Given the description of an element on the screen output the (x, y) to click on. 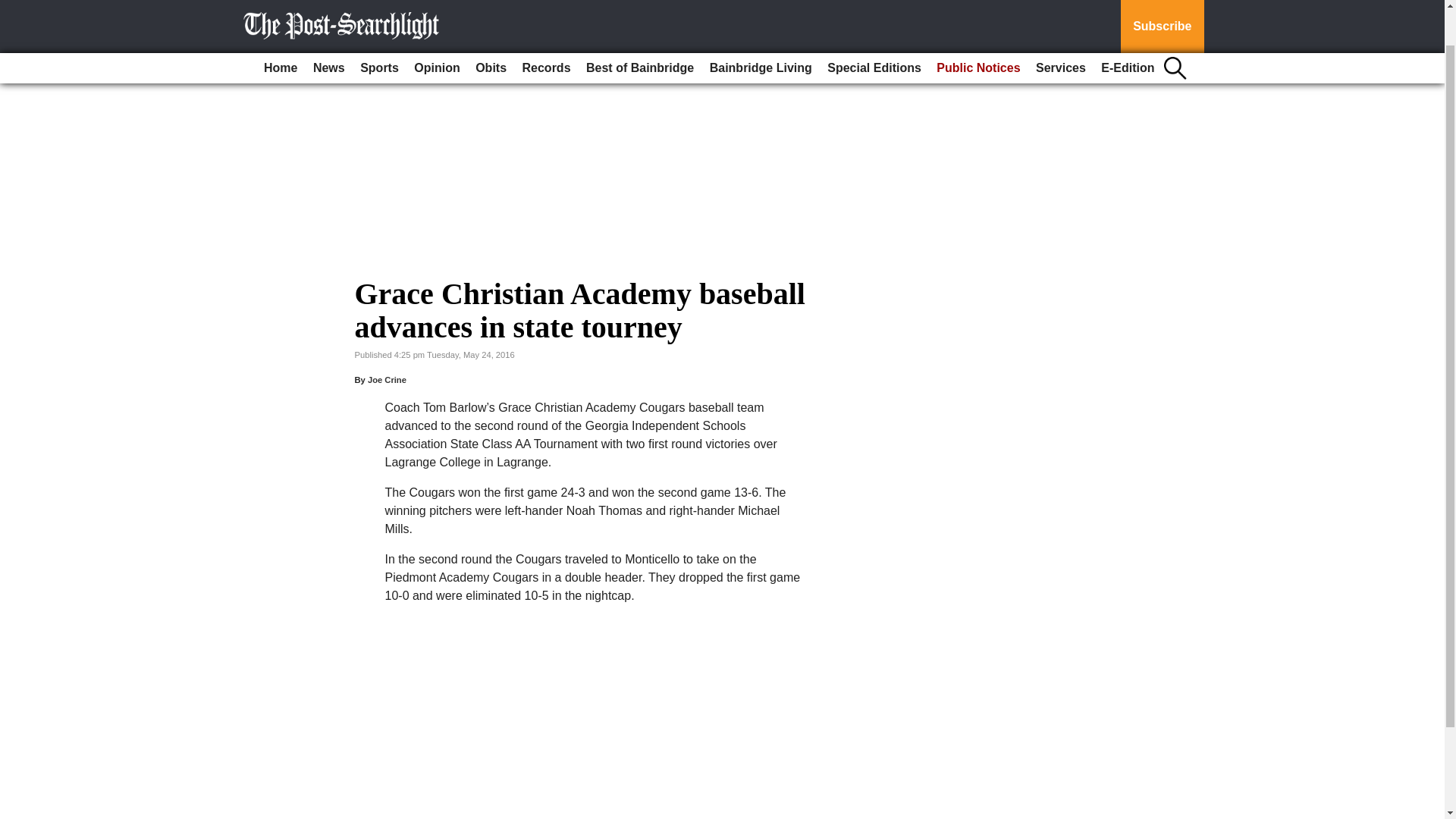
Special Editions (874, 26)
Obits (490, 26)
Home (279, 26)
Records (546, 26)
Subscribe (1162, 5)
Best of Bainbridge (639, 26)
E-Edition (1127, 26)
Sports (378, 26)
Joe Crine (387, 379)
Services (1060, 26)
Public Notices (978, 26)
Bainbridge Living (760, 26)
Opinion (436, 26)
News (328, 26)
